Given the description of an element on the screen output the (x, y) to click on. 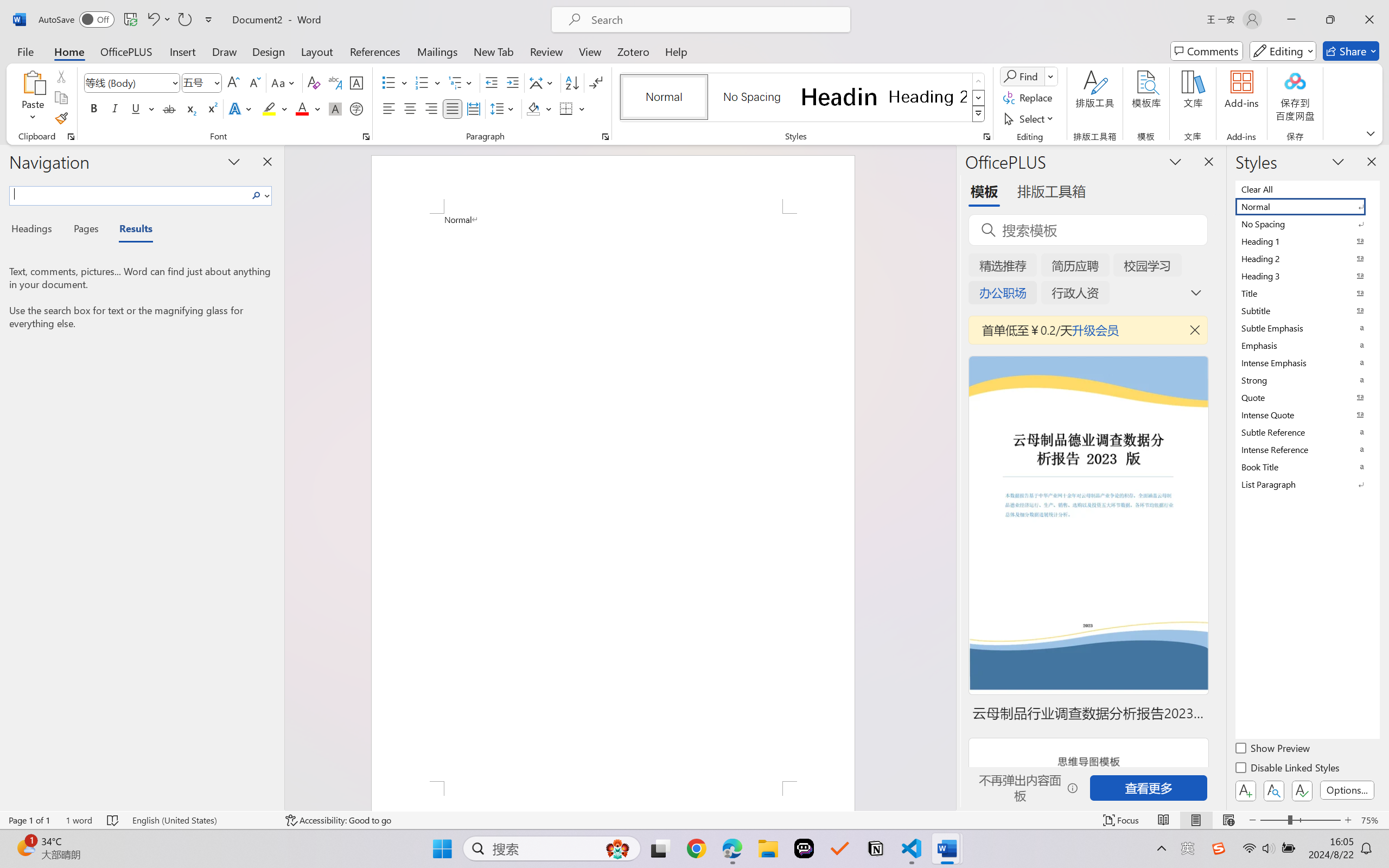
Bold (94, 108)
Book Title (1306, 466)
Heading 2 (927, 96)
Review (546, 51)
Font (132, 82)
Text Highlight Color (274, 108)
Numbering (428, 82)
Title (1306, 293)
Decrease Indent (491, 82)
Font (126, 82)
Numbering (421, 82)
Subtle Reference (1306, 431)
Language English (United States) (201, 819)
